Given the description of an element on the screen output the (x, y) to click on. 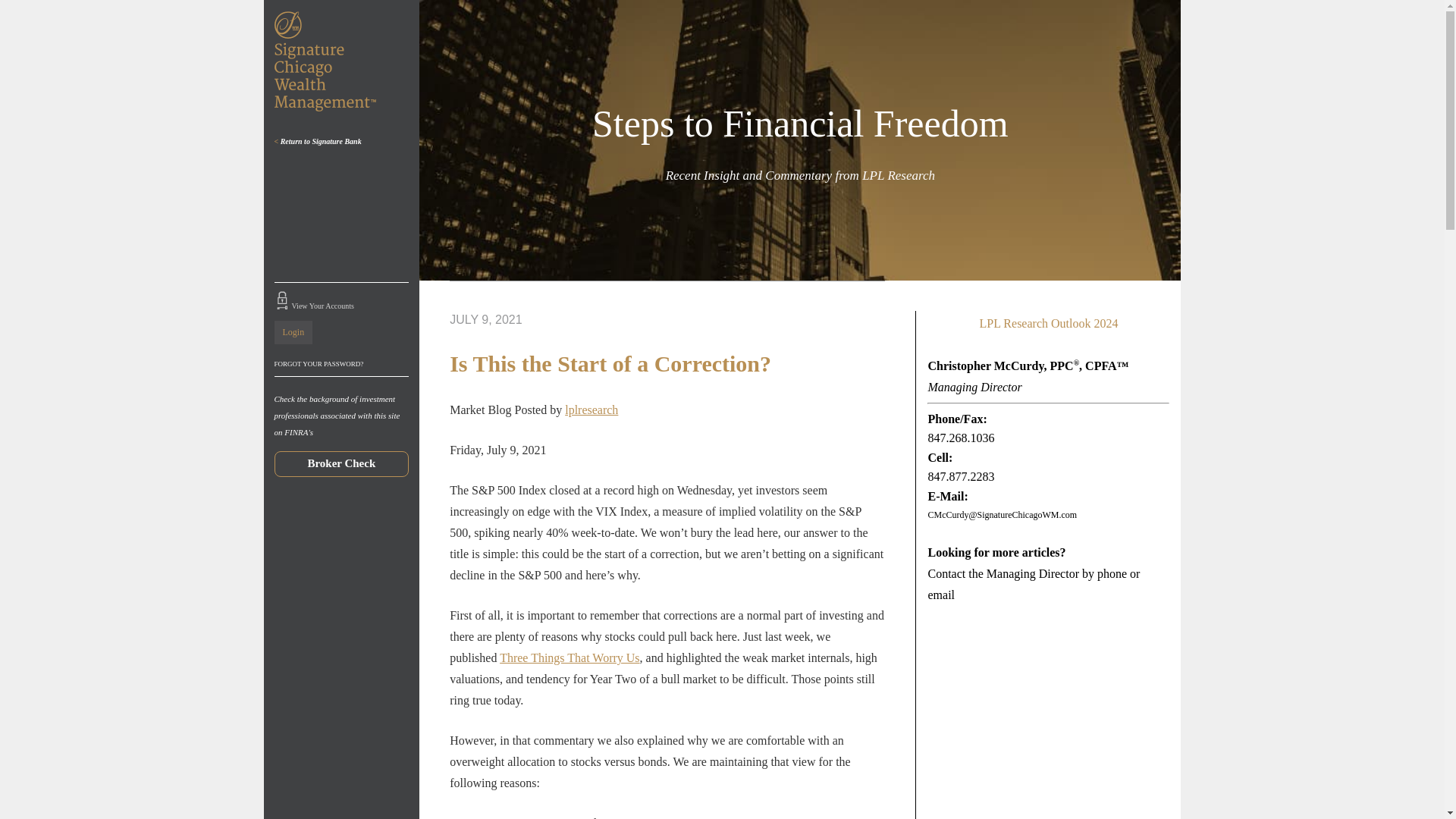
FORGOT YOUR PASSWORD? (342, 364)
847.877.2283 (960, 476)
Login (294, 331)
LPL Research Outlook 2024 (1048, 324)
lplresearch (590, 409)
Broker Check (342, 463)
Three Things That Worry Us (569, 657)
847.268.1036 (960, 437)
